Given the description of an element on the screen output the (x, y) to click on. 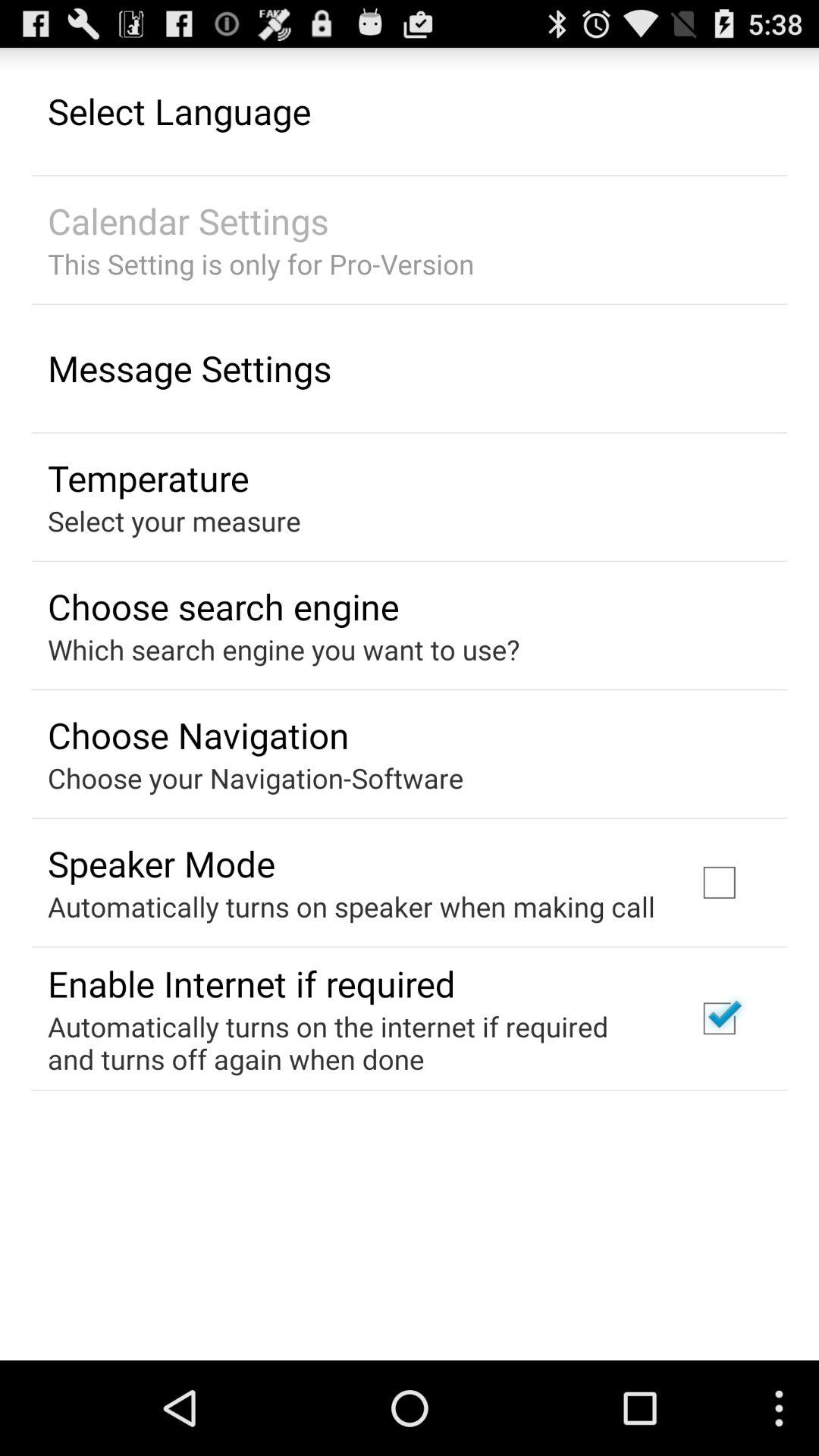
launch the speaker mode app (161, 863)
